Given the description of an element on the screen output the (x, y) to click on. 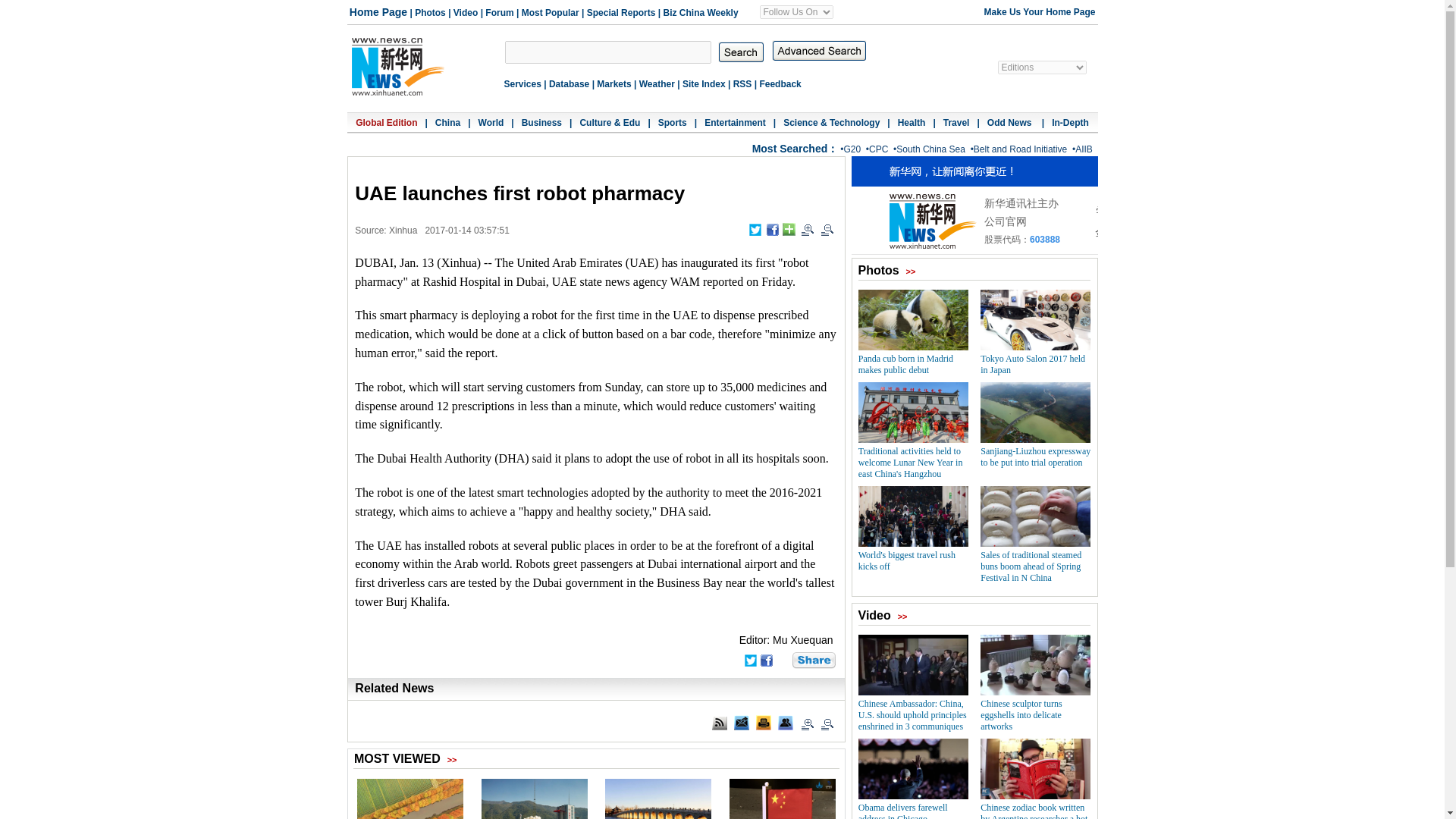
Special Reports (621, 12)
Photos (429, 12)
Video (464, 12)
Global Edition (385, 122)
Entertainment (734, 122)
Services (521, 83)
Business (541, 122)
Odd News (1010, 122)
Sports (672, 122)
Most Popular (550, 12)
Database (568, 83)
G20 (851, 149)
Site Index (703, 83)
South China Sea (930, 149)
More (813, 660)
